Given the description of an element on the screen output the (x, y) to click on. 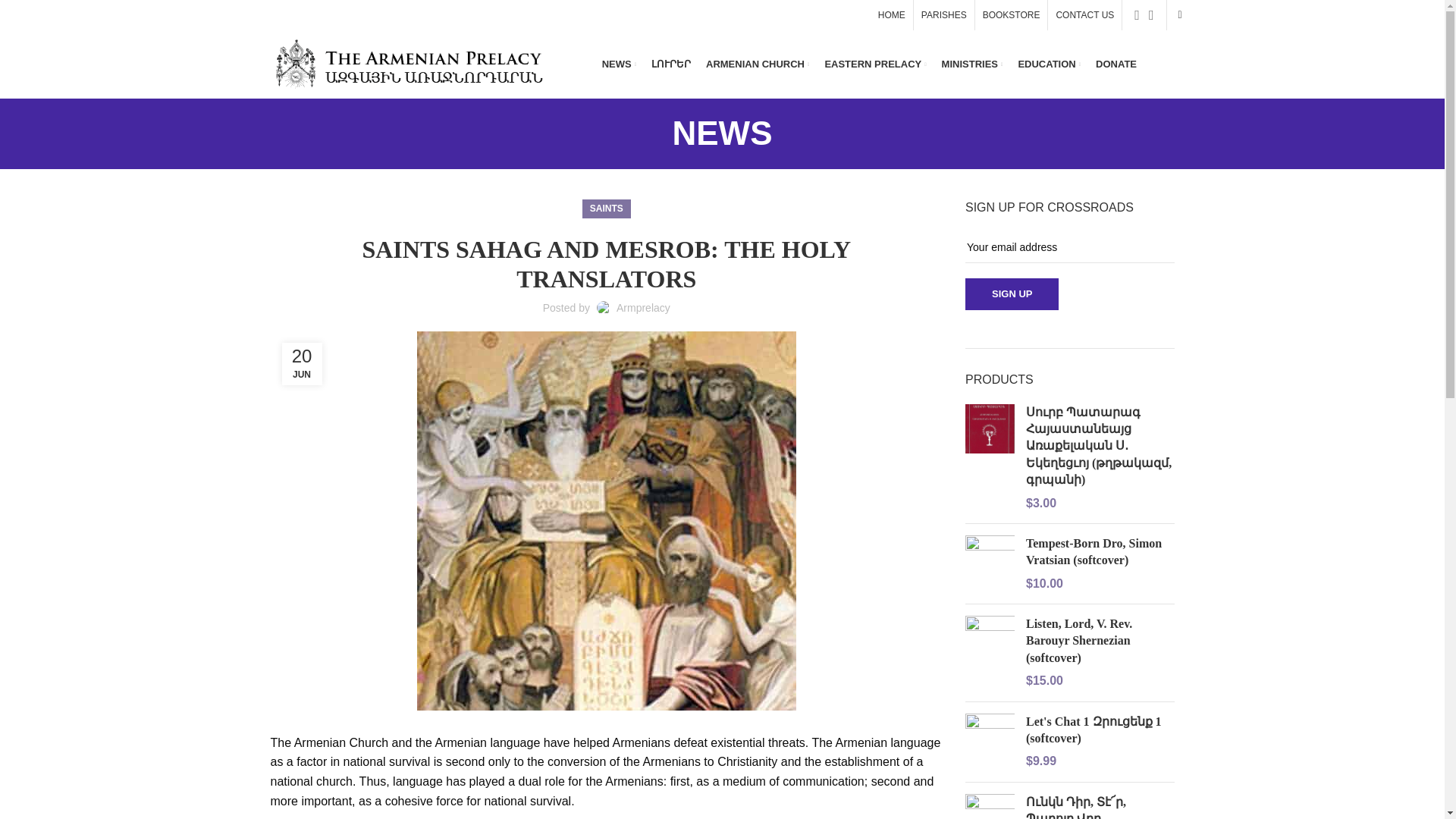
Sign up (1011, 294)
EASTERN PRELACY (875, 64)
HOME (891, 15)
NEWS (619, 64)
BOOKSTORE (1011, 15)
CONTACT US (1084, 15)
ARMENIAN CHURCH (757, 64)
MINISTRIES (972, 64)
PARISHES (943, 15)
